Given the description of an element on the screen output the (x, y) to click on. 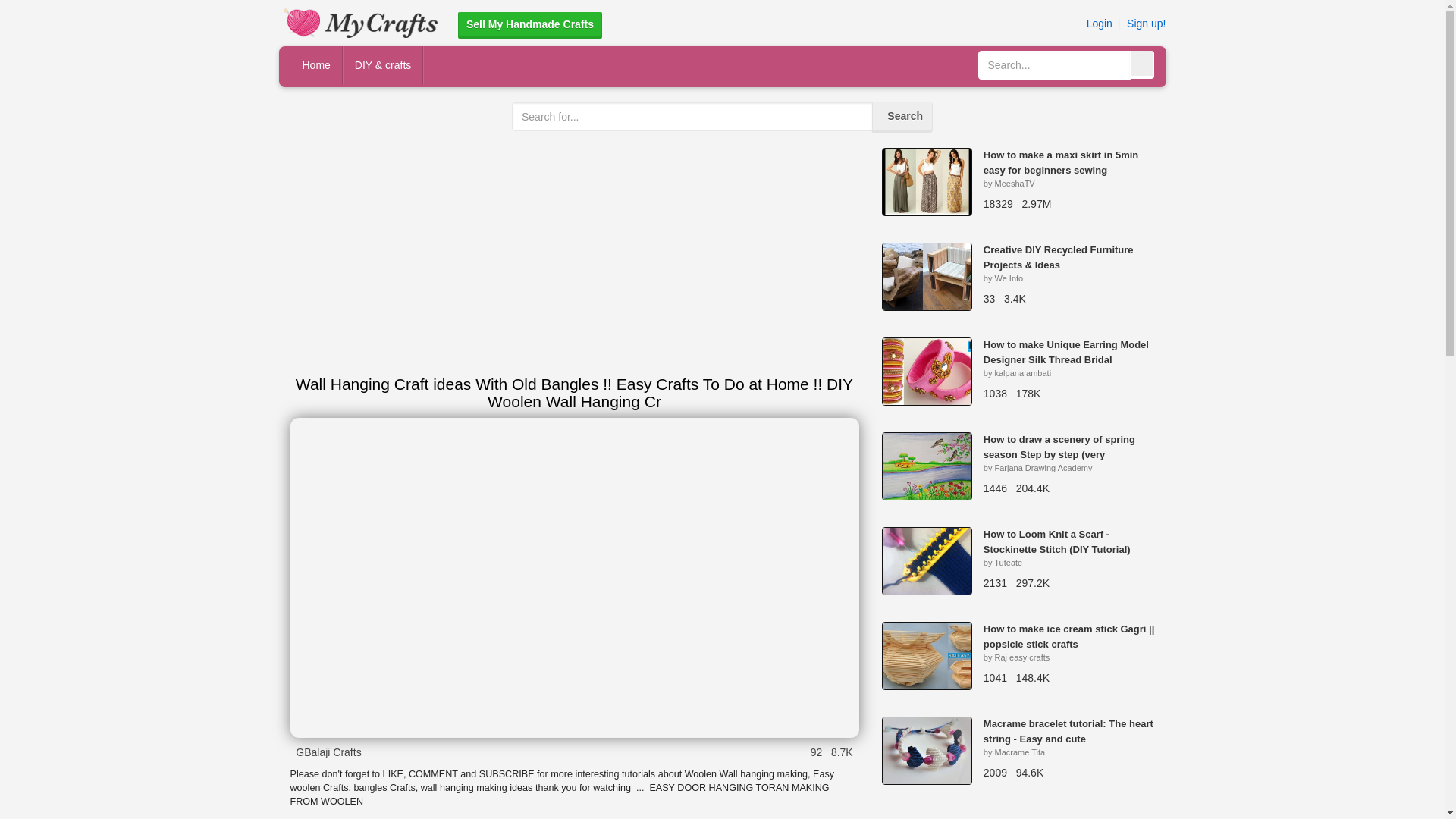
Home (316, 64)
How to make Unique Earring Model Designer Silk Thread Bridal (1066, 352)
Sell My Handmade Crafts (530, 25)
Sign up! (1146, 23)
Macrame bracelet tutorial: The heart string - Easy and cute (1068, 731)
  Search (902, 117)
How to make a maxi skirt in 5min easy for beginners sewing (1061, 162)
Login (1099, 23)
MyCrafts.com (362, 21)
